Given the description of an element on the screen output the (x, y) to click on. 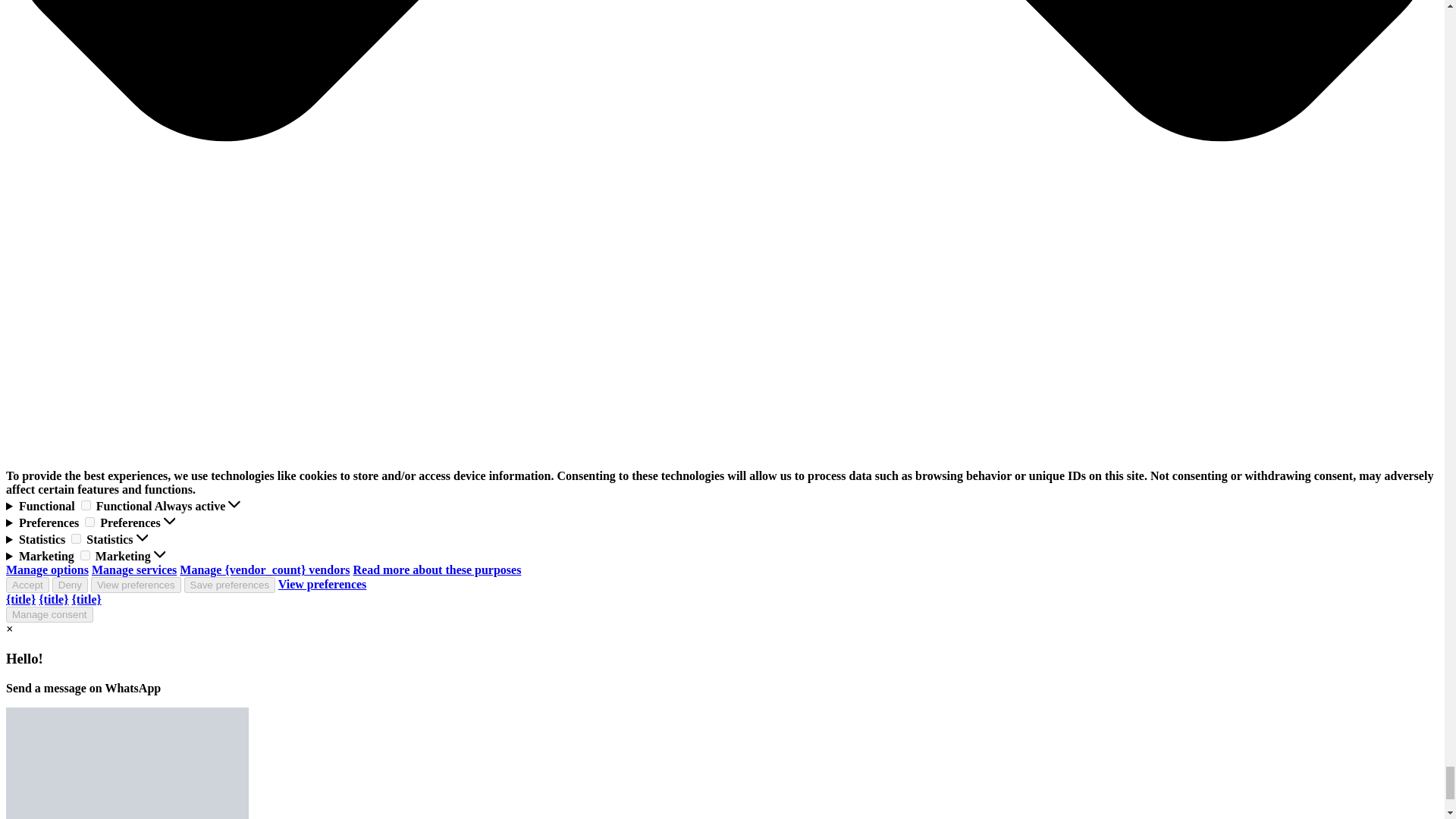
1 (89, 521)
1 (85, 505)
1 (85, 555)
1 (76, 538)
